Given the description of an element on the screen output the (x, y) to click on. 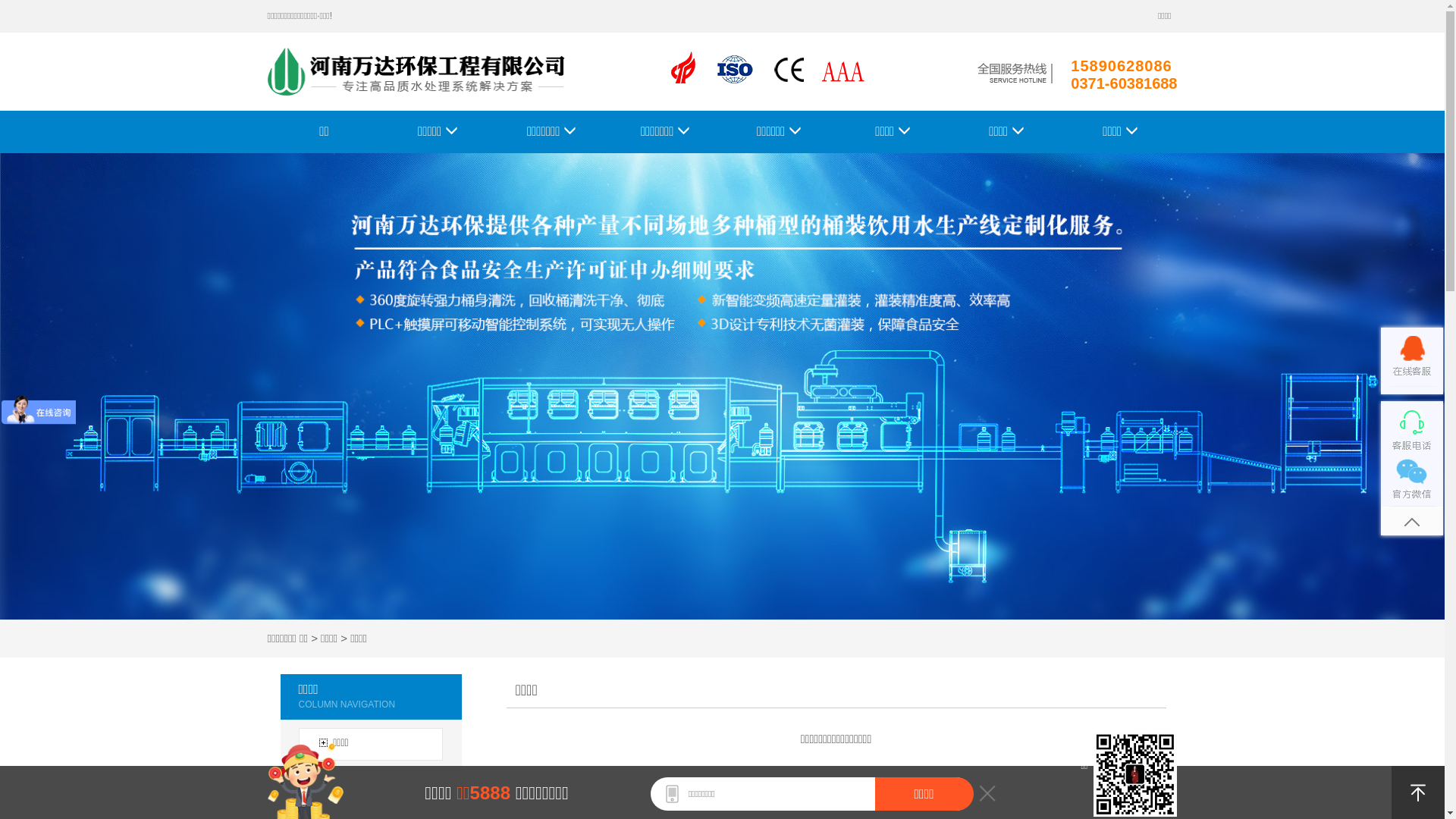
15890628086 Element type: text (1123, 65)
    Element type: text (850, 774)
0371-60381688 Element type: text (1123, 83)
